Given the description of an element on the screen output the (x, y) to click on. 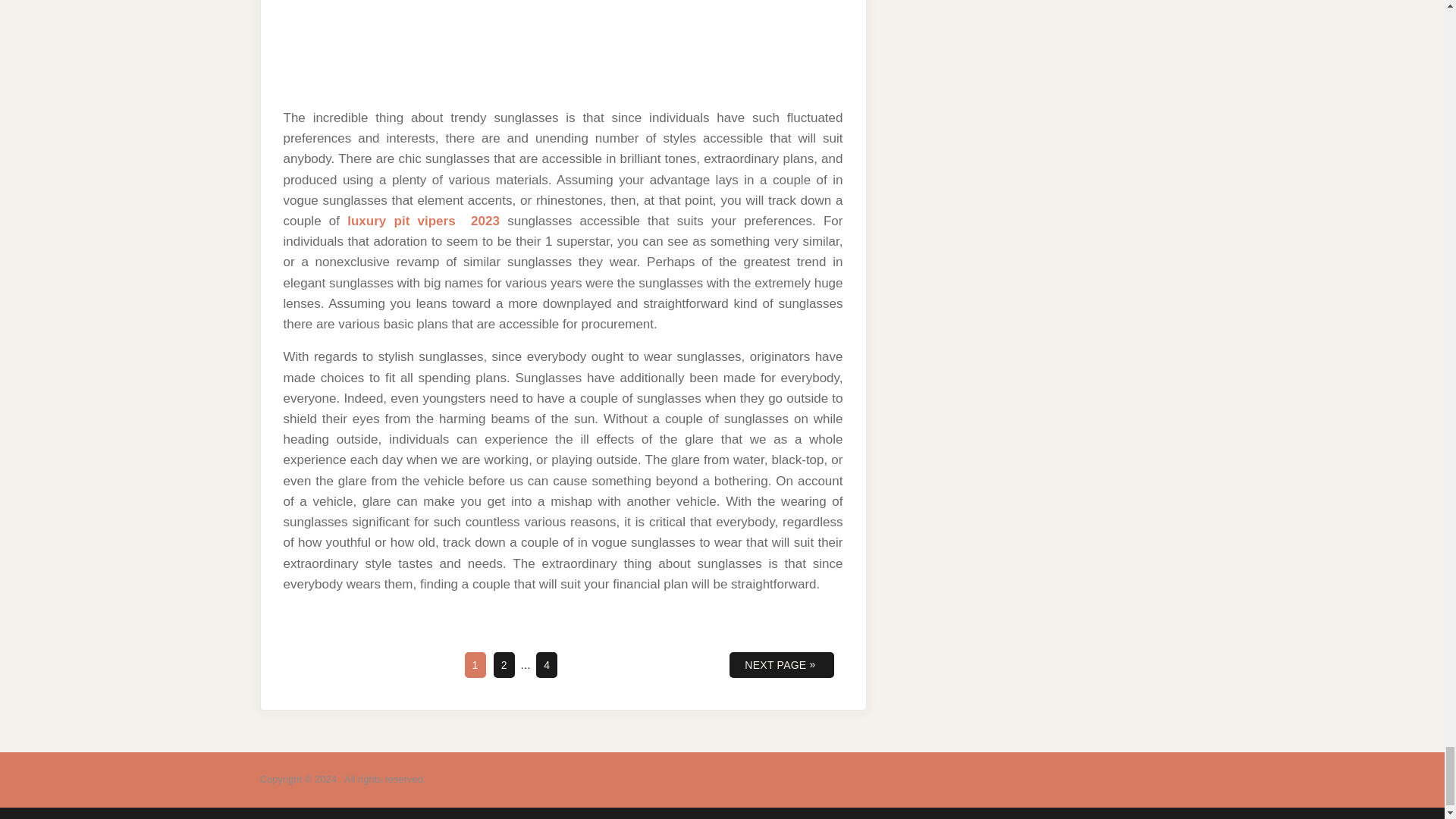
luxury pit vipers  2023 (504, 664)
